Given the description of an element on the screen output the (x, y) to click on. 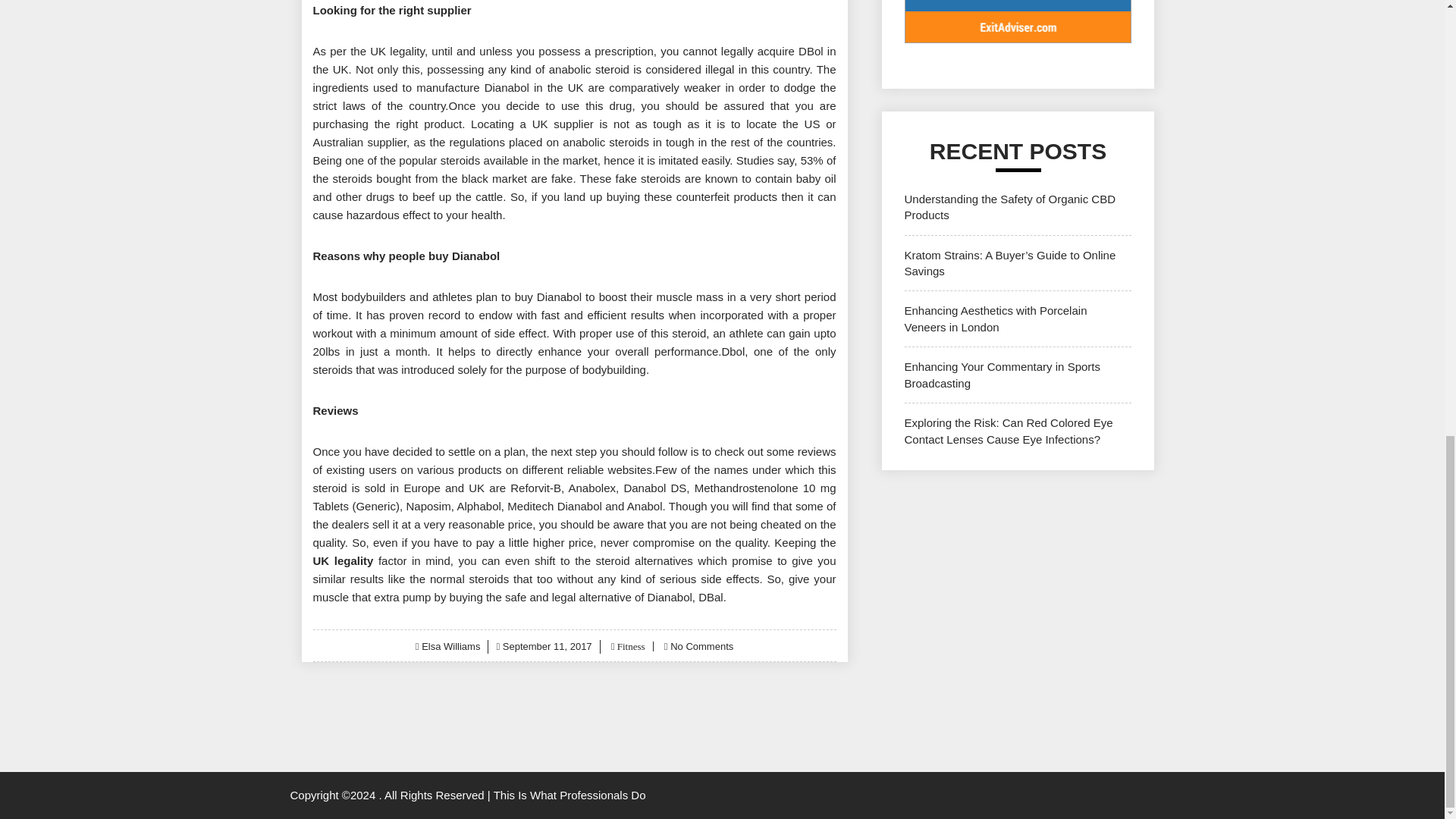
No Comments (701, 645)
Enhancing Aesthetics with Porcelain Veneers in London (995, 317)
Enhancing Your Commentary in Sports Broadcasting (1001, 374)
UK legality (342, 560)
Fitness (629, 645)
Understanding the Safety of Organic CBD Products (1009, 206)
September 11, 2017 (547, 645)
Elsa Williams (451, 645)
